Given the description of an element on the screen output the (x, y) to click on. 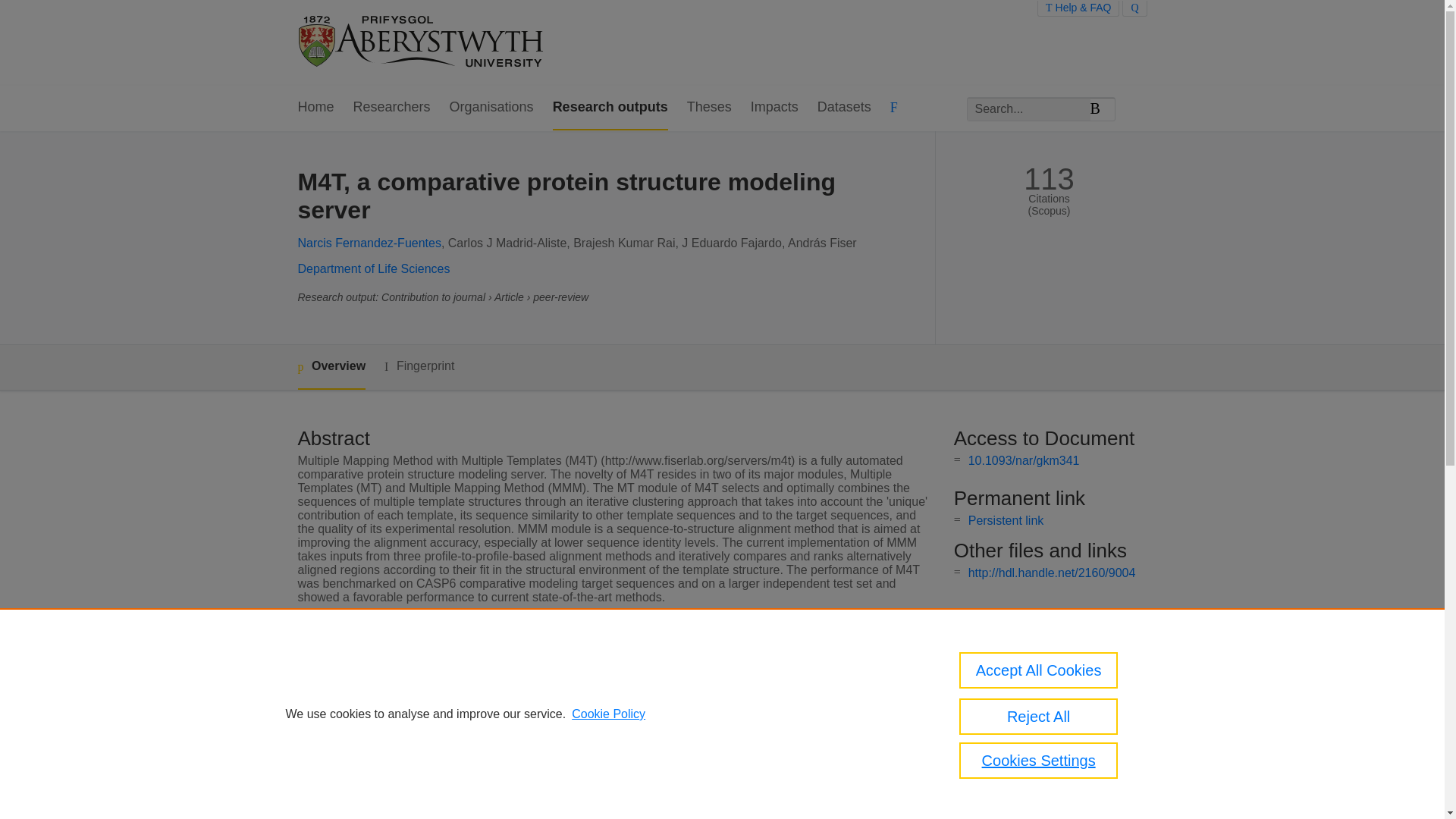
Department of Life Sciences (373, 268)
Organisations (491, 107)
Impacts (774, 107)
Research outputs (610, 107)
Aberystwyth Research Portal Home (422, 42)
Narcis Fernandez-Fuentes (369, 242)
Persistent link (1005, 520)
Nucleic Acids Research (573, 687)
Datasets (843, 107)
Overview (331, 366)
Theses (709, 107)
Researchers (391, 107)
Fingerprint (419, 366)
